Given the description of an element on the screen output the (x, y) to click on. 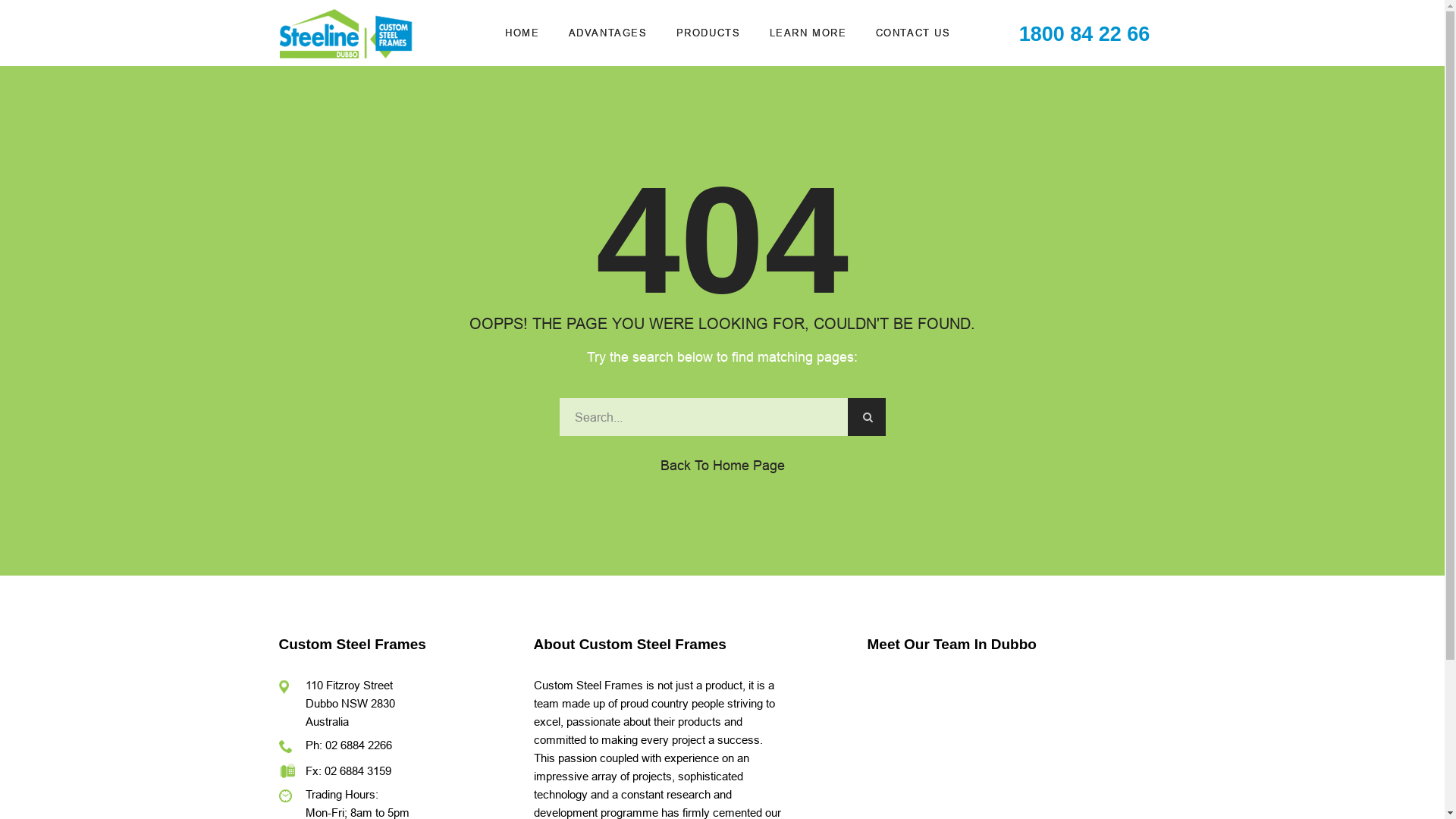
TRUSSES Element type: text (843, 81)
LEARN MORE Element type: text (807, 32)
ARCHITECTS AND ENGINEERS Element type: text (936, 194)
OWNER BUILDERS Element type: text (936, 232)
WALL FRAMES Element type: text (843, 119)
RESIDENTIAL BUILDERS Element type: text (936, 156)
Search Element type: text (866, 417)
Back To Home Page Element type: text (721, 465)
ANCILLARY PRODUCTS Element type: text (843, 318)
PROJECT PARTNERS Element type: text (936, 119)
ABOUT US Element type: text (936, 81)
FLOOR SYSTEMS Element type: text (843, 156)
STRUCTURAL FRAMING Element type: text (843, 194)
CONTACT US Element type: text (912, 32)
ADVANTAGES Element type: text (607, 32)
HOME Element type: text (522, 32)
PRODUCTS Element type: text (708, 32)
LATTICE AND SLATS Element type: text (843, 280)
1800 84 22 66 Element type: text (1083, 32)
VERANDAHS, CARPORTS AND PATIOS Element type: text (843, 237)
